Given the description of an element on the screen output the (x, y) to click on. 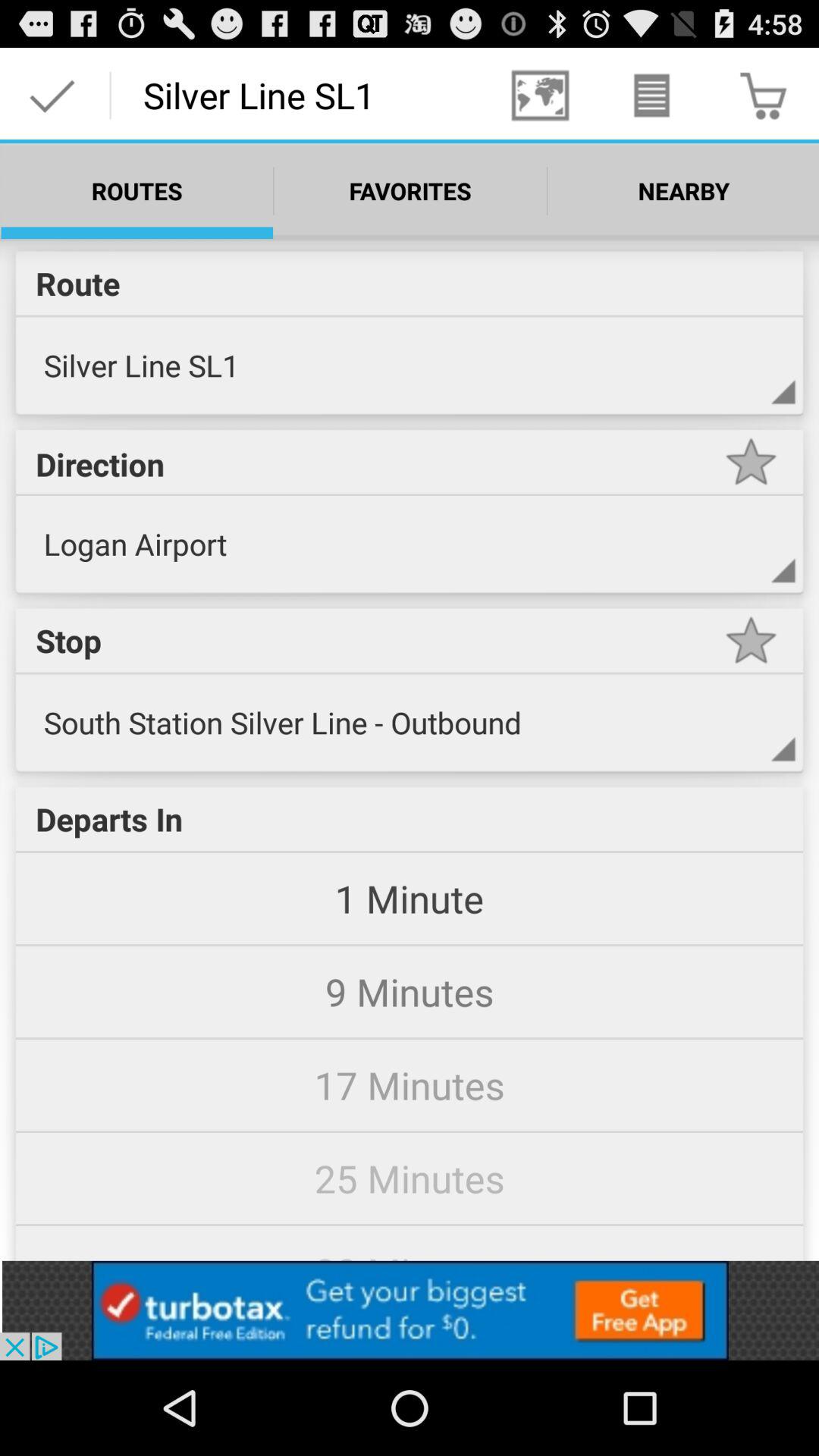
expand direction option (751, 565)
